Given the description of an element on the screen output the (x, y) to click on. 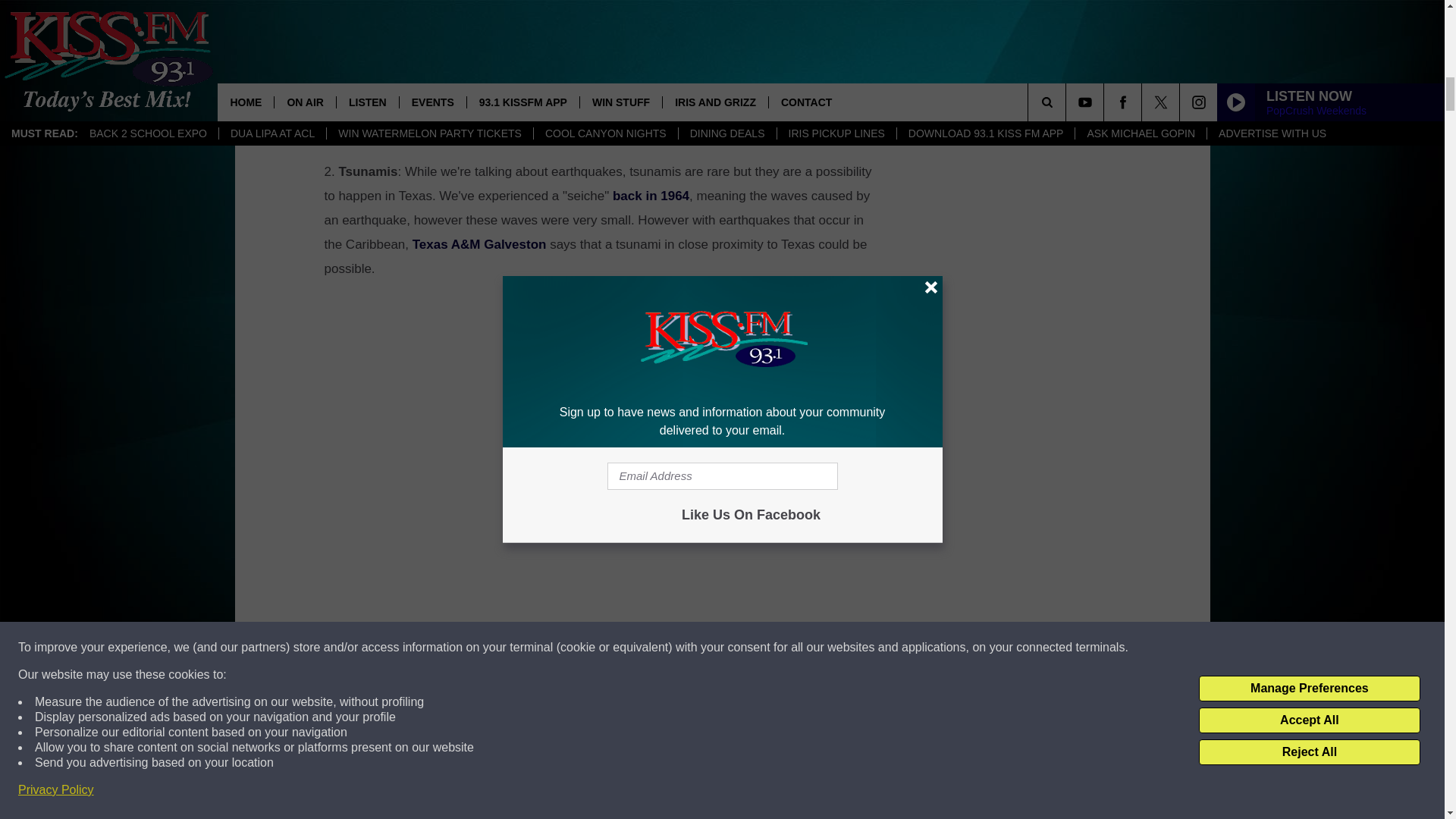
Email Address (600, 112)
